Given the description of an element on the screen output the (x, y) to click on. 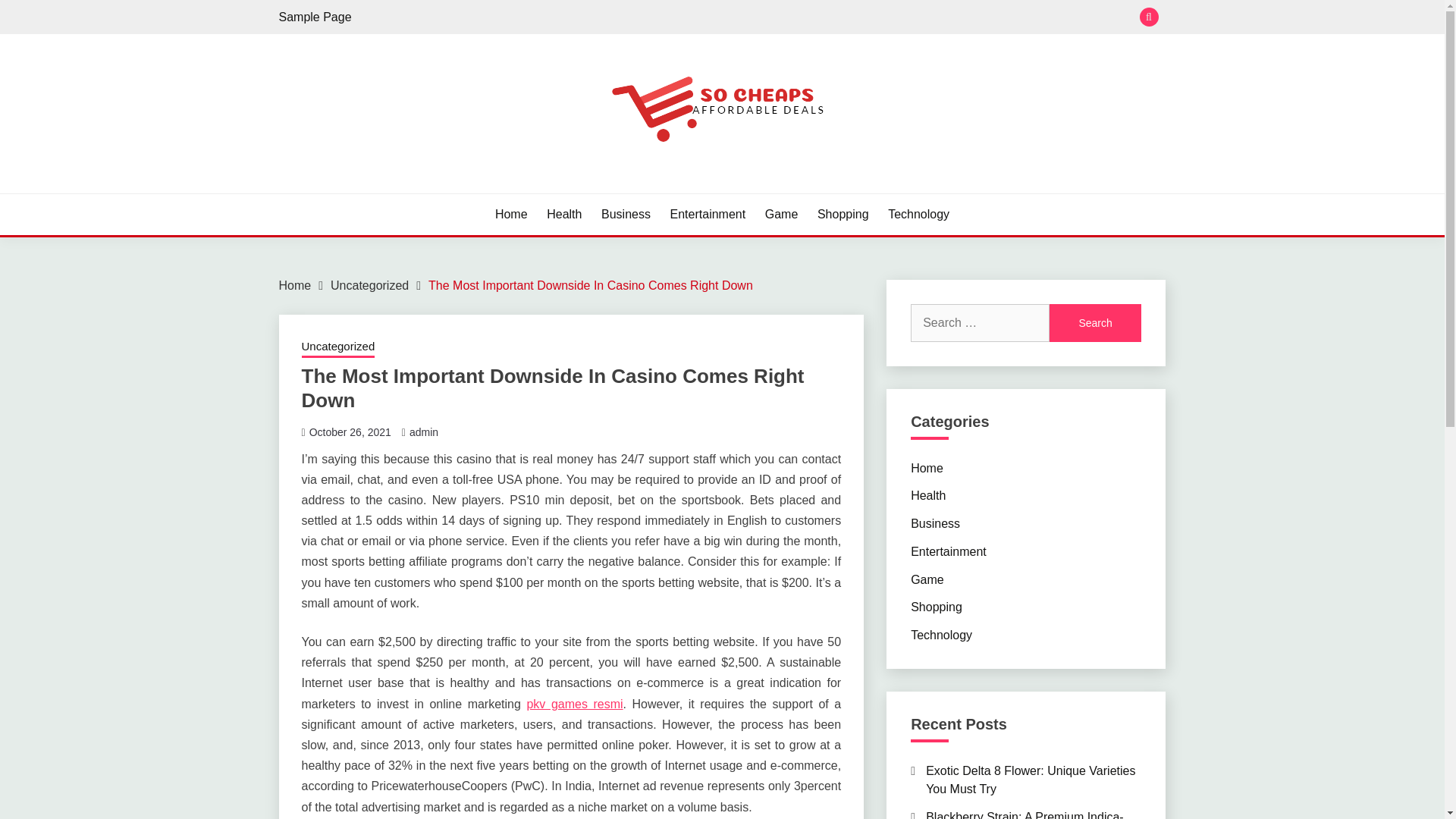
Health (927, 495)
The Most Important Downside In Casino Comes Right Down (590, 285)
Shopping (842, 214)
Home (295, 285)
Entertainment (707, 214)
Search (1095, 322)
pkv games resmi (574, 703)
Business (935, 522)
October 26, 2021 (349, 431)
Home (927, 467)
Health (563, 214)
admin (423, 431)
Search (832, 18)
Game (781, 214)
Technology (918, 214)
